Given the description of an element on the screen output the (x, y) to click on. 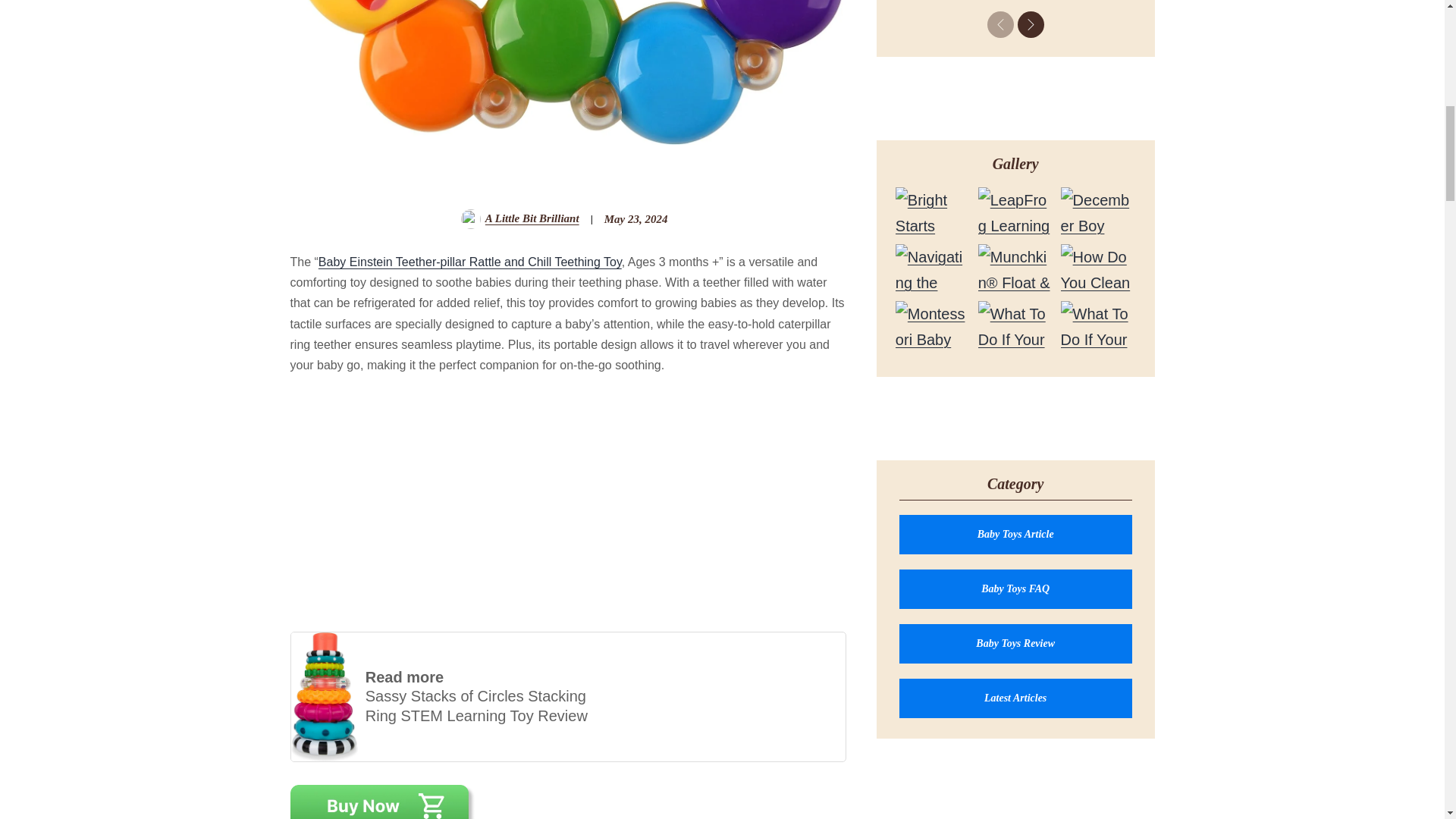
A Little Bit Brilliant (531, 219)
Baby Einstein Teether-pillar Rattle and Chill Teething Toy (469, 261)
